Given the description of an element on the screen output the (x, y) to click on. 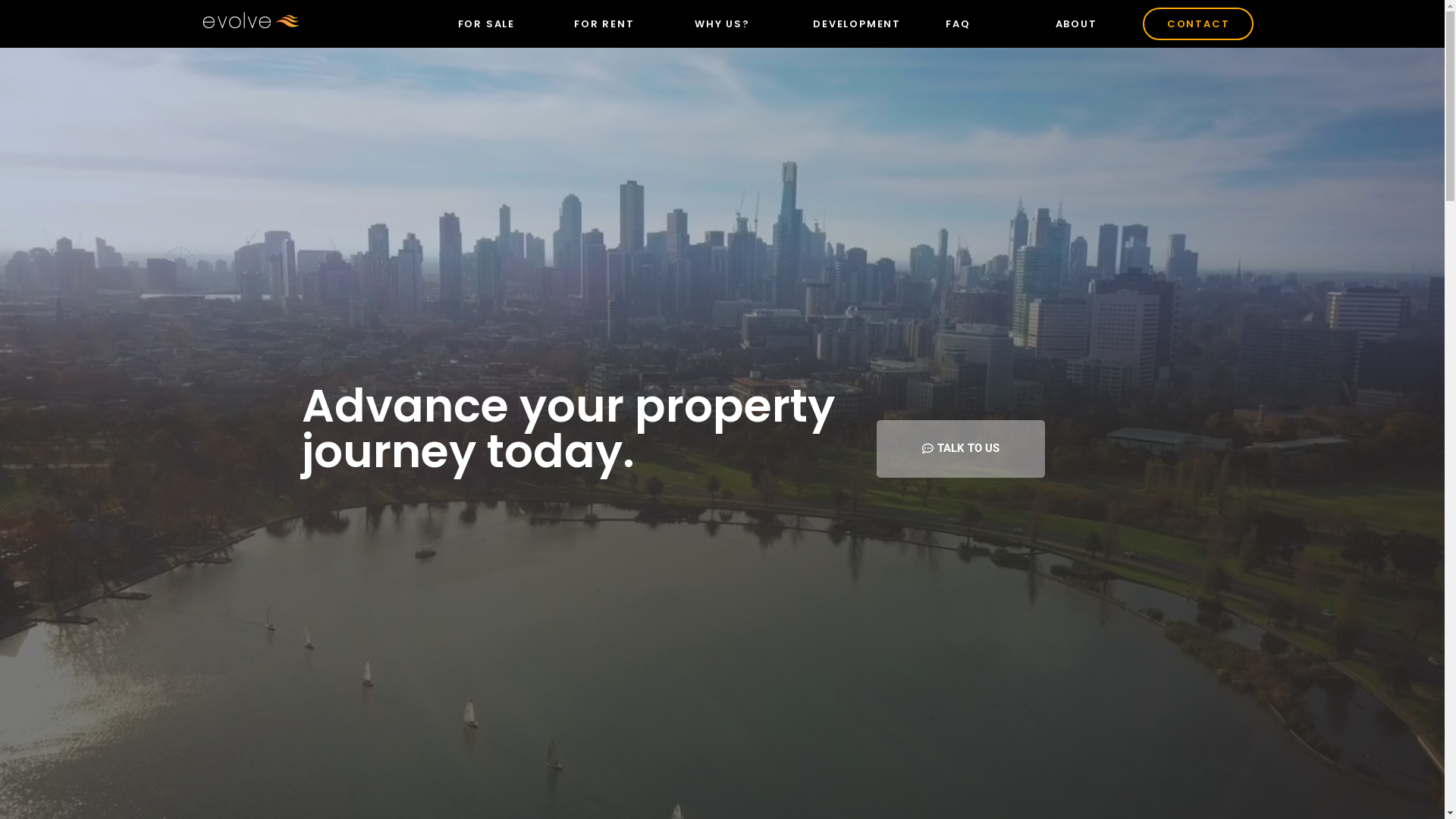
WHY US? Element type: text (721, 23)
DEVELOPMENT Element type: text (856, 23)
TALK TO US Element type: text (960, 448)
CONTACT Element type: text (1198, 23)
FOR RENT Element type: text (603, 23)
ABOUT Element type: text (1076, 23)
FOR SALE Element type: text (486, 23)
FAQ Element type: text (957, 23)
